Given the description of an element on the screen output the (x, y) to click on. 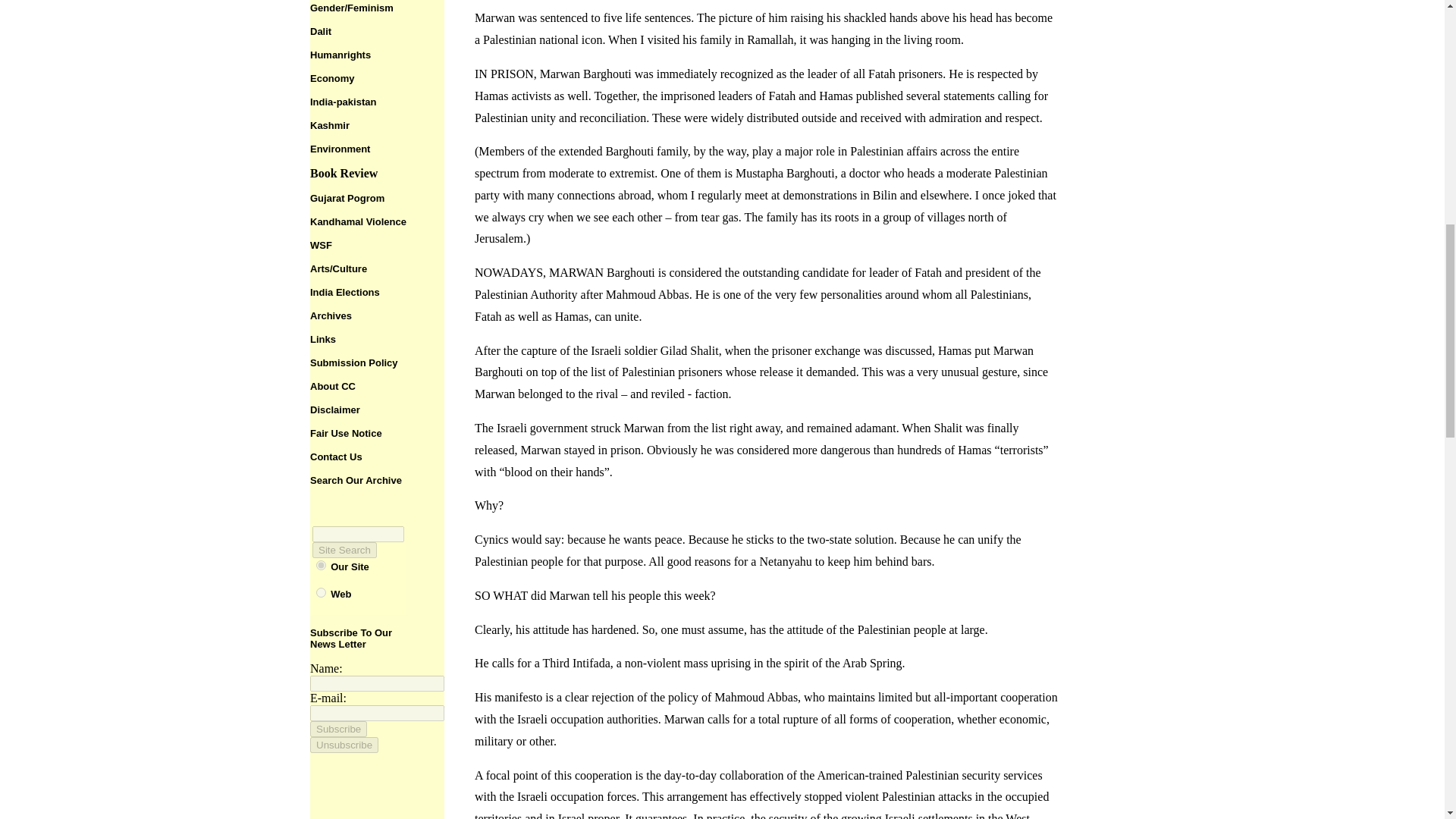
Book Review (343, 173)
India-pakistan (342, 101)
Gujarat Pogrom (347, 196)
Economy (332, 78)
Kashmir (329, 125)
Humanrights (340, 54)
Environment (339, 148)
Dalit (320, 30)
Subscribe (338, 729)
Site Search (345, 549)
Unsubscribe (344, 744)
